Given the description of an element on the screen output the (x, y) to click on. 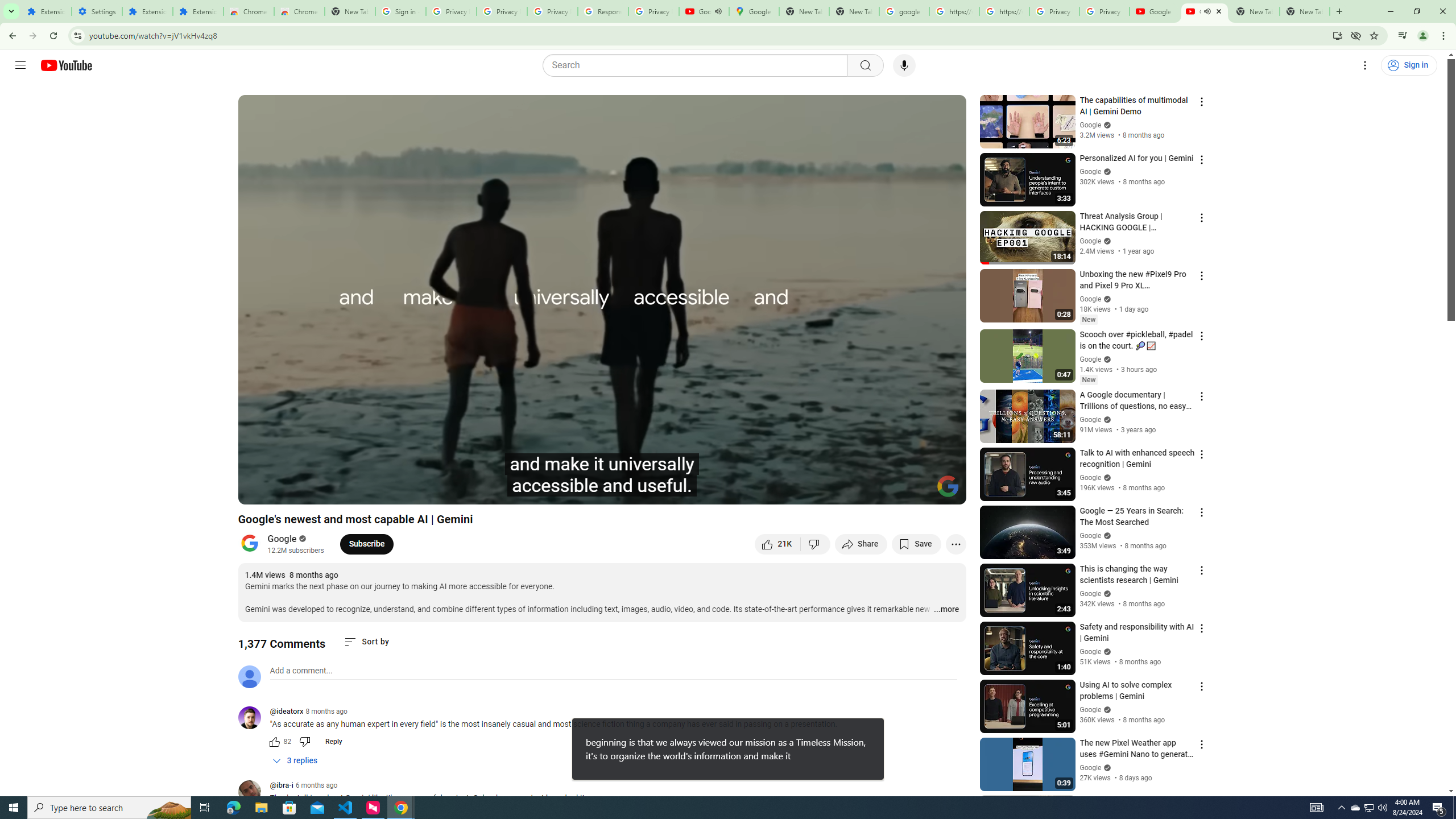
@ibra-i (281, 785)
Third-party cookies blocked (1355, 35)
https://scholar.google.com/ (1004, 11)
6 months ago (316, 785)
Extensions (197, 11)
You (1422, 35)
New Tab (1304, 11)
Settings (1365, 65)
Install YouTube (1336, 35)
AutomationID: simplebox-placeholder (301, 670)
YouTube Home (66, 65)
Google Maps (753, 11)
